Given the description of an element on the screen output the (x, y) to click on. 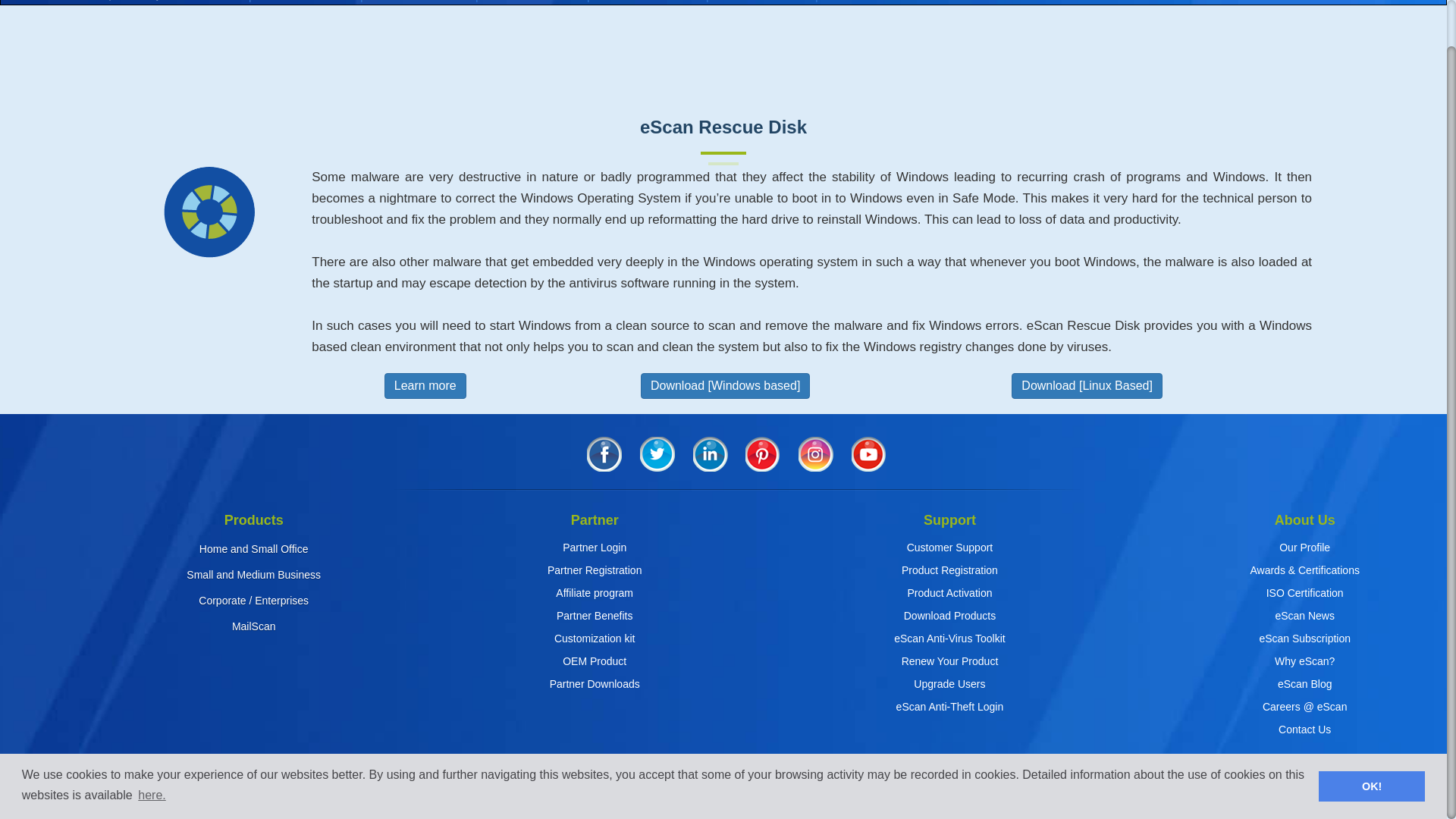
OK! (1372, 736)
Product (304, 1)
MicroWorld Technologies Inc (238, 795)
eScan Rescue Disk (208, 212)
